Given the description of an element on the screen output the (x, y) to click on. 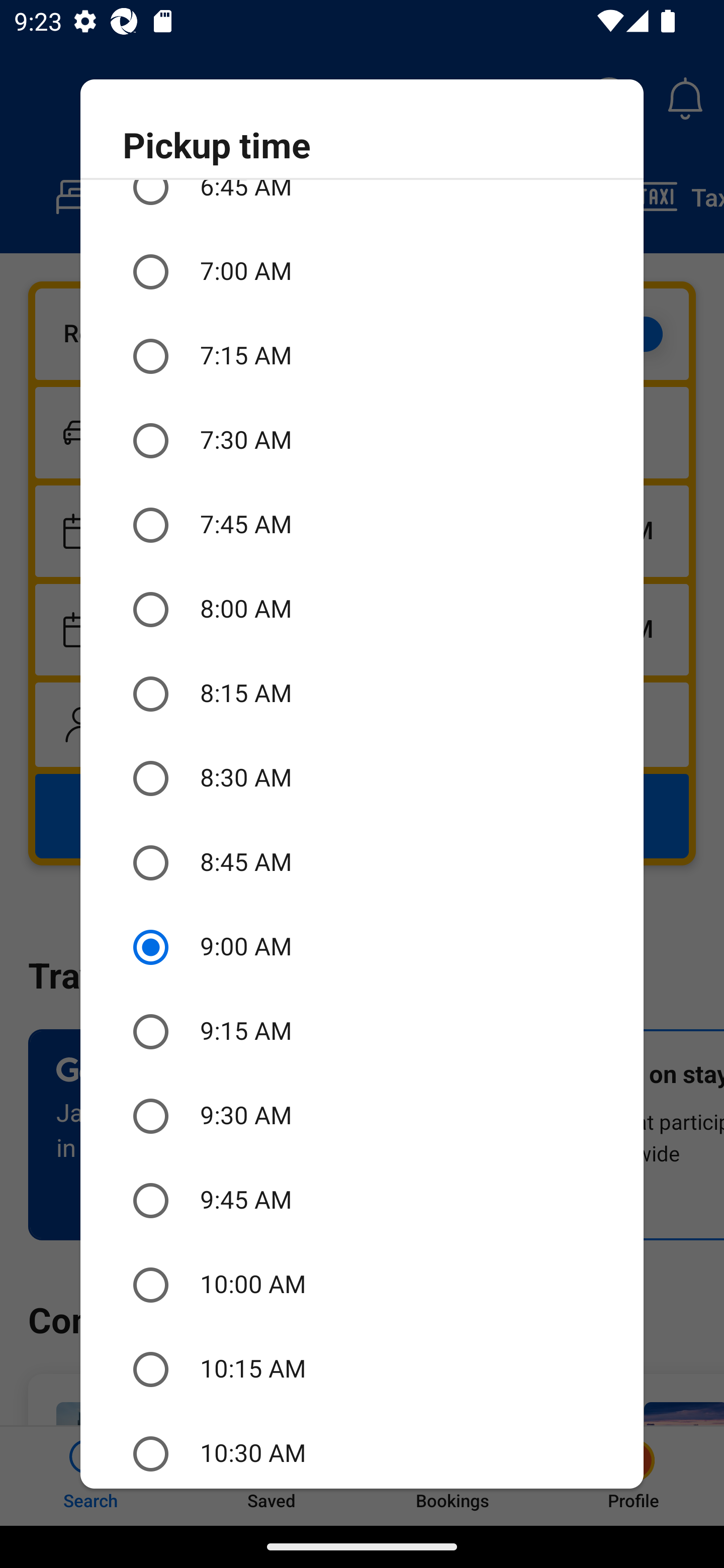
7:00 AM (361, 270)
7:15 AM (361, 355)
7:30 AM (361, 440)
7:45 AM (361, 524)
8:00 AM (361, 609)
8:15 AM (361, 694)
8:30 AM (361, 778)
8:45 AM (361, 862)
9:00 AM (361, 946)
9:15 AM (361, 1031)
9:30 AM (361, 1116)
9:45 AM (361, 1200)
10:00 AM (361, 1284)
10:15 AM (361, 1368)
10:30 AM (361, 1449)
